Given the description of an element on the screen output the (x, y) to click on. 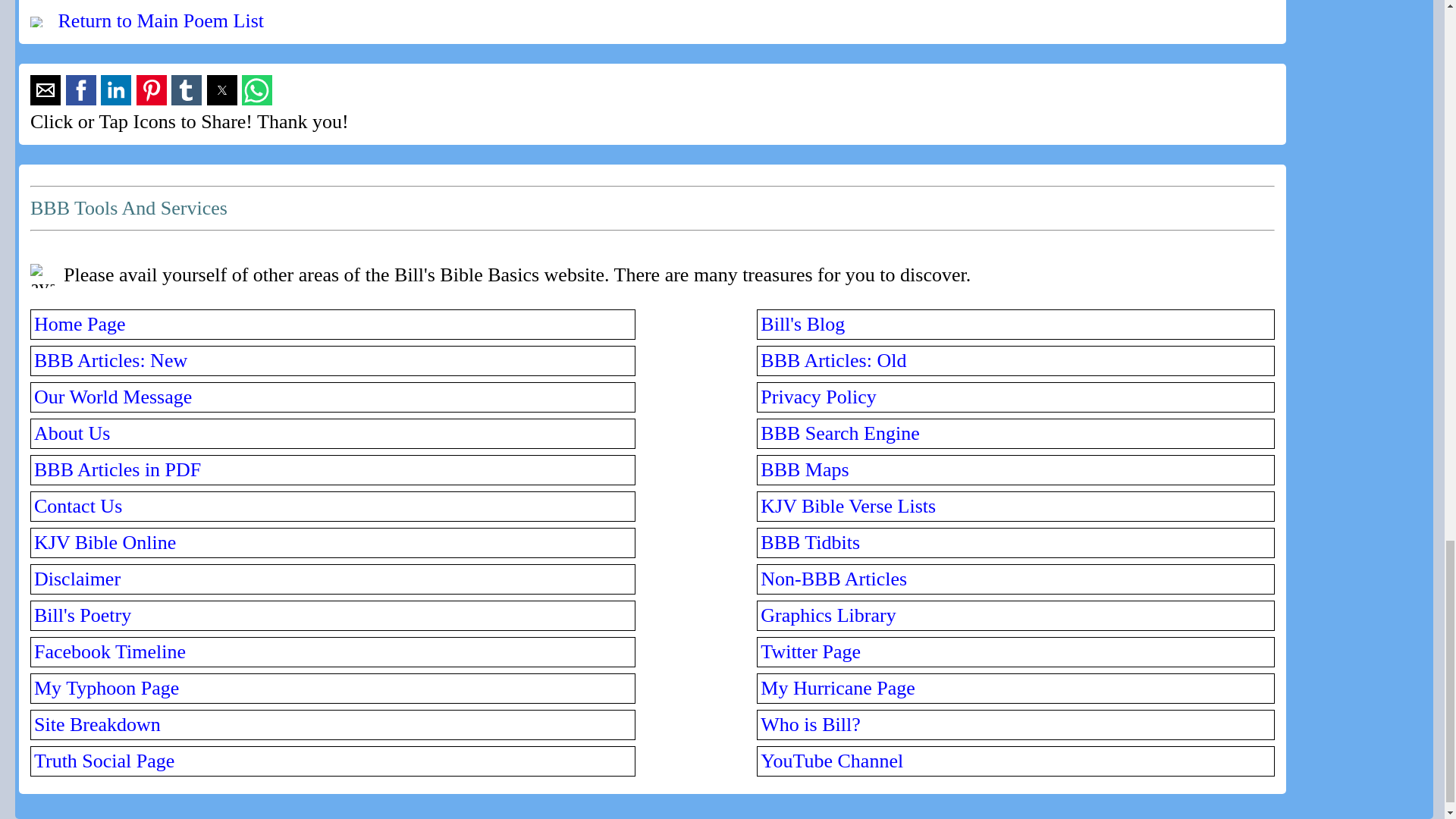
Truth Social Page (103, 761)
Twitter Page (810, 651)
Bill's Poetry (82, 615)
Return to Main Poem List (160, 20)
KJV Bible Online (104, 542)
Map Resources (804, 469)
About Us (71, 433)
Graphics Library (827, 615)
BBB Search Engine (839, 433)
BBB Articles: New (110, 360)
